Given the description of an element on the screen output the (x, y) to click on. 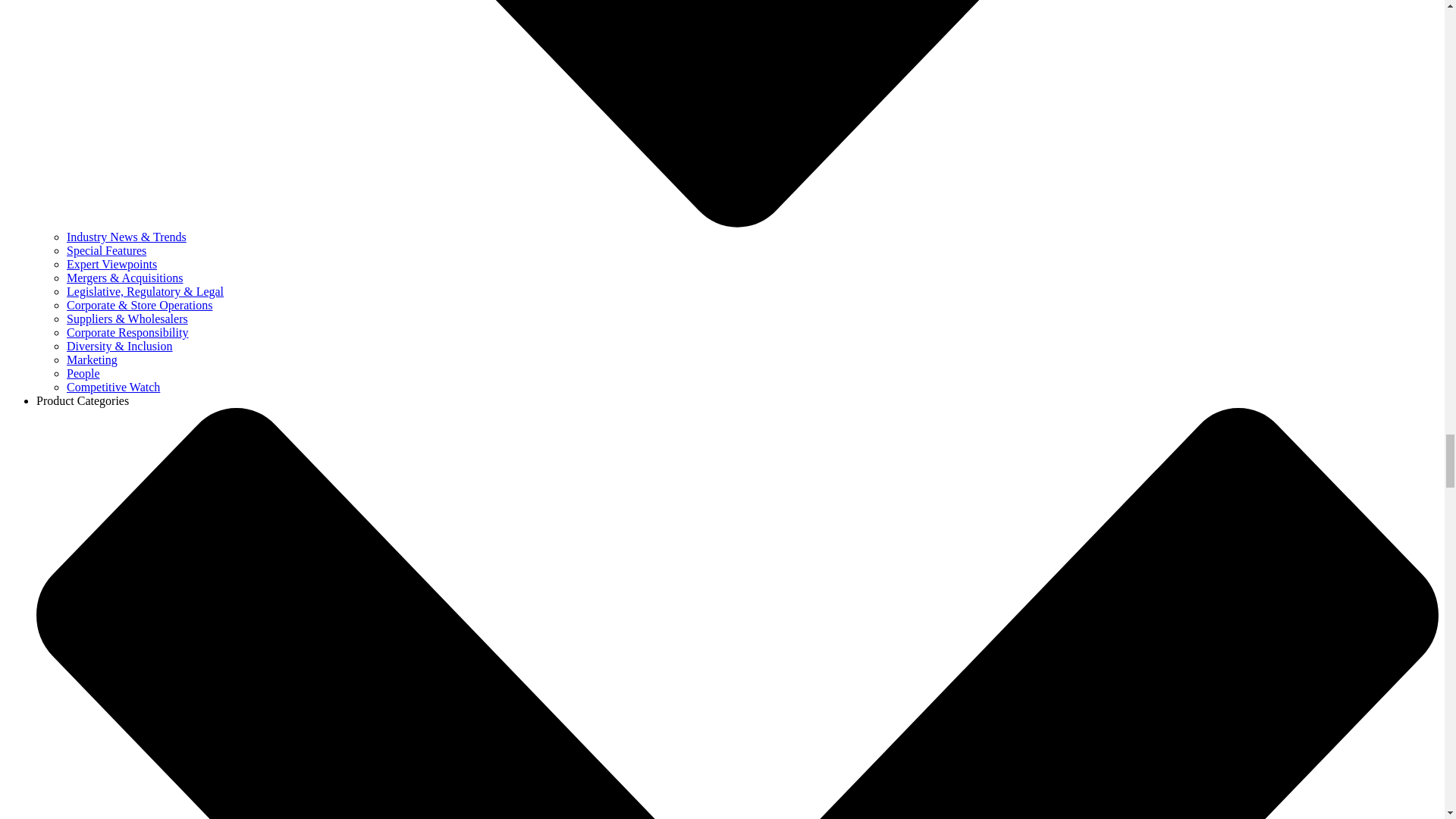
Special Features (106, 250)
Expert Viewpoints (111, 264)
Marketing (91, 359)
Competitive Watch (113, 386)
People (83, 373)
Product Categories (82, 400)
Corporate Responsibility (126, 332)
